Given the description of an element on the screen output the (x, y) to click on. 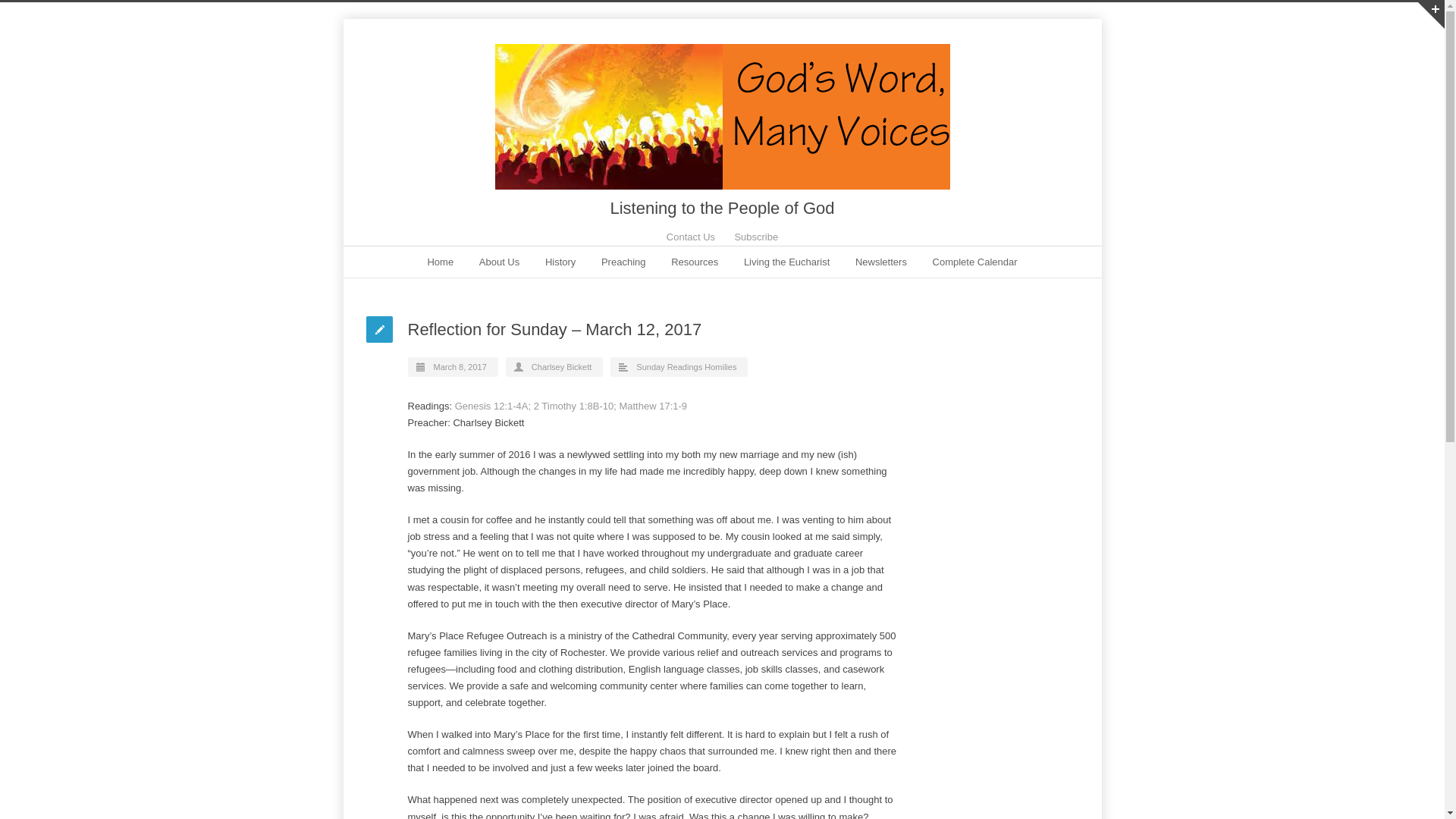
Subscribe (755, 236)
Complete Calendar (975, 261)
Genesis 12:1-4A; 2 Timothy 1:8B-10; Matthew 17:1-9 (570, 405)
Preaching (623, 261)
Contact Us (690, 236)
Living the Eucharist (786, 261)
About Us (499, 261)
Sunday Readings Homilies (686, 366)
Resources (694, 261)
Newsletters (881, 261)
Charlsey Bickett (561, 366)
History (559, 261)
